Given the description of an element on the screen output the (x, y) to click on. 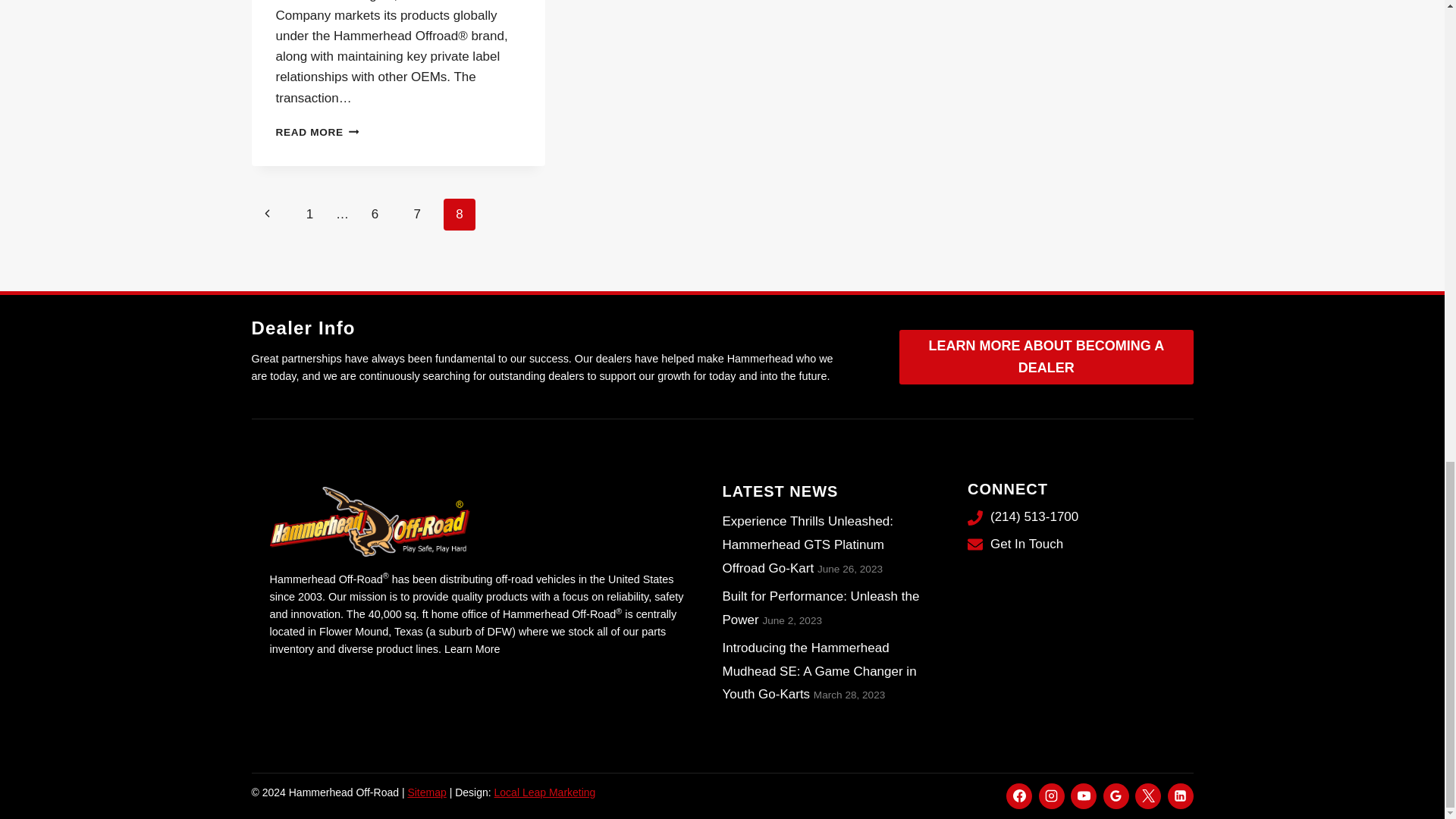
Previous Page (267, 214)
1 (310, 214)
Hammerhead Off-Road (369, 523)
